Given the description of an element on the screen output the (x, y) to click on. 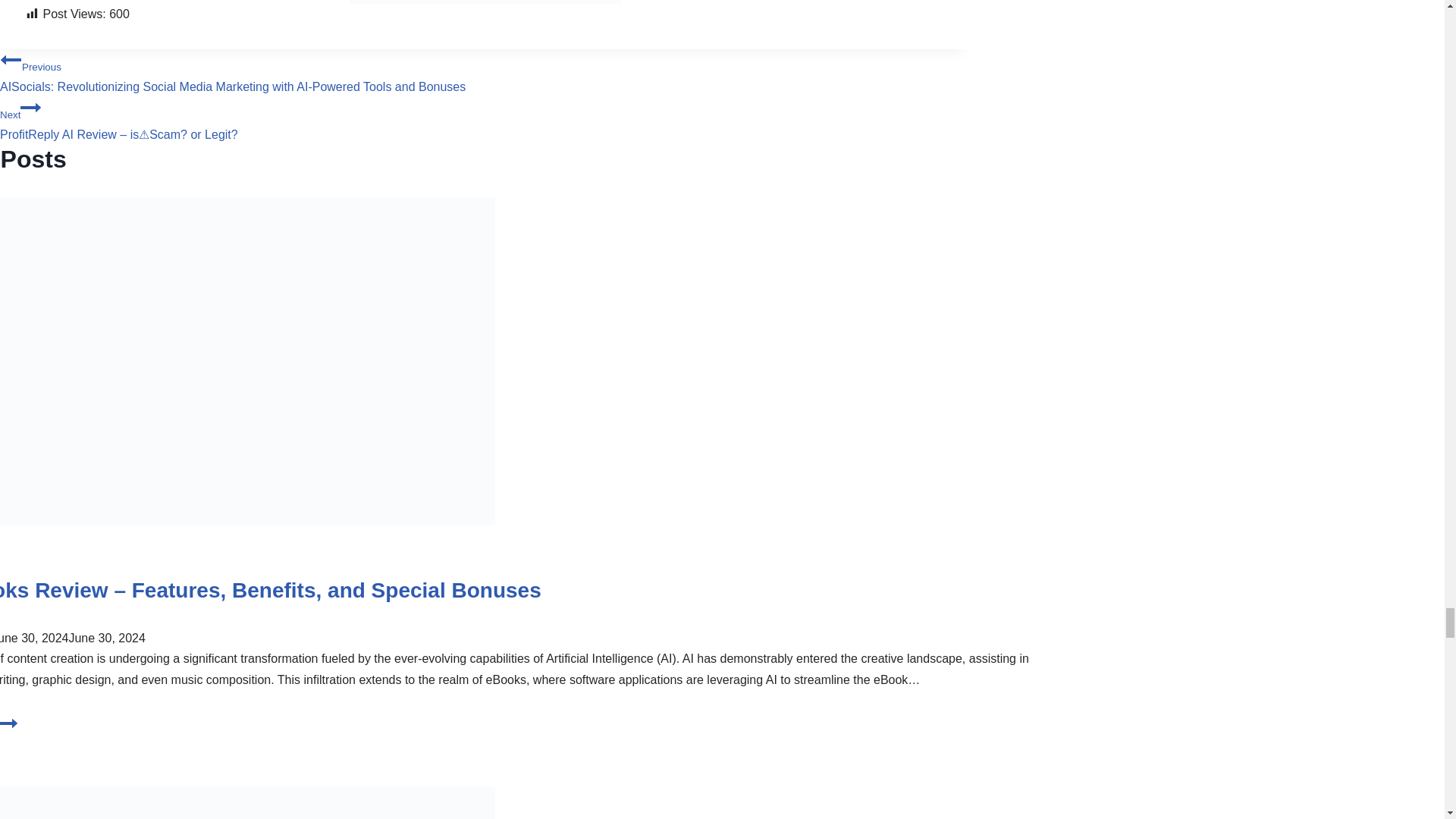
Continue (30, 107)
Previous (8, 729)
